Given the description of an element on the screen output the (x, y) to click on. 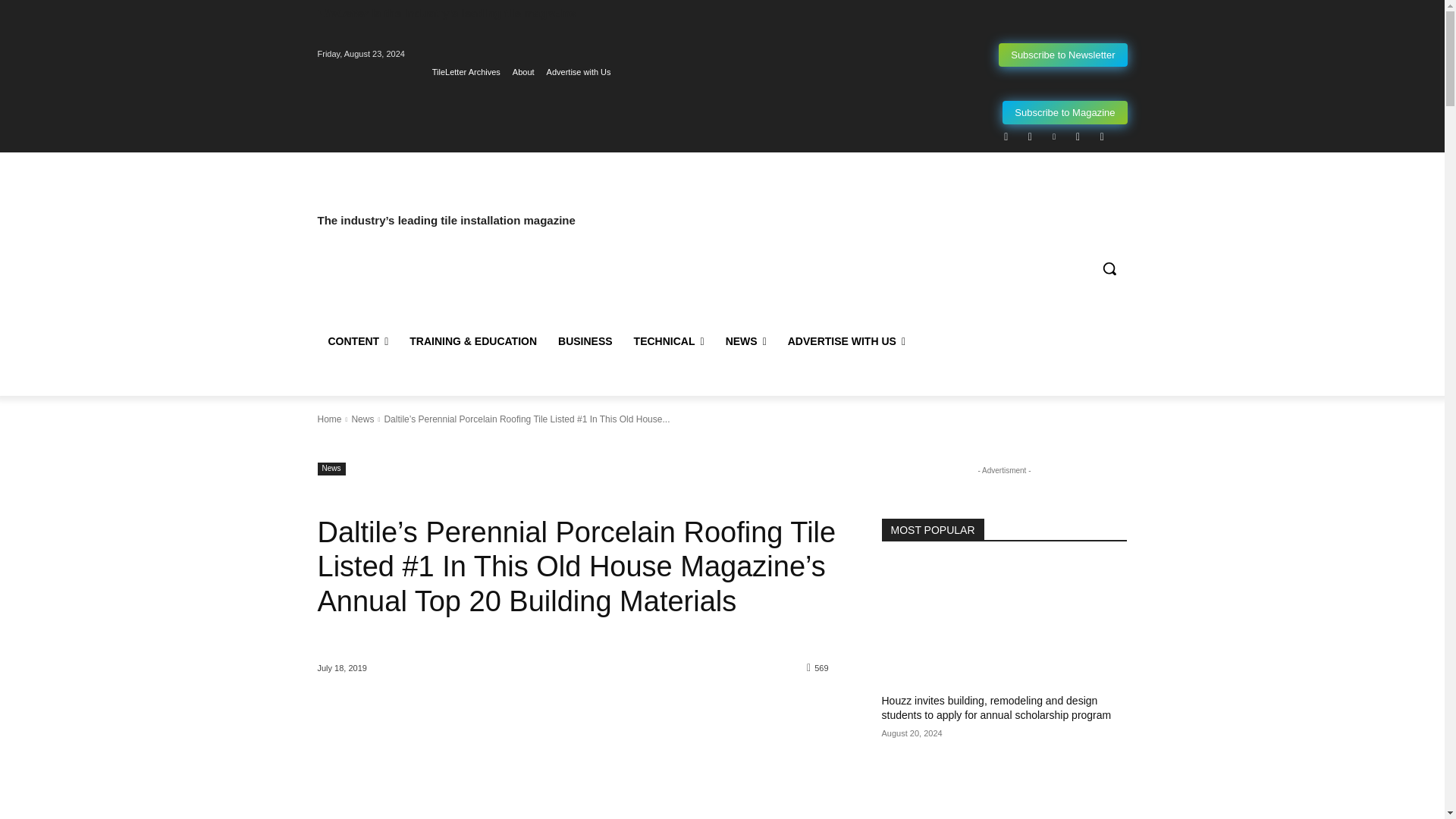
Subscribe to Newsletter (1062, 54)
About (523, 71)
Youtube (1102, 136)
BUSINESS (585, 340)
Subscribe to Newsletter (1062, 54)
Subscribe to Magazine (1064, 112)
Instagram (1030, 136)
Twitter (1077, 136)
CONTENT (357, 340)
Linkedin (1053, 136)
